Given the description of an element on the screen output the (x, y) to click on. 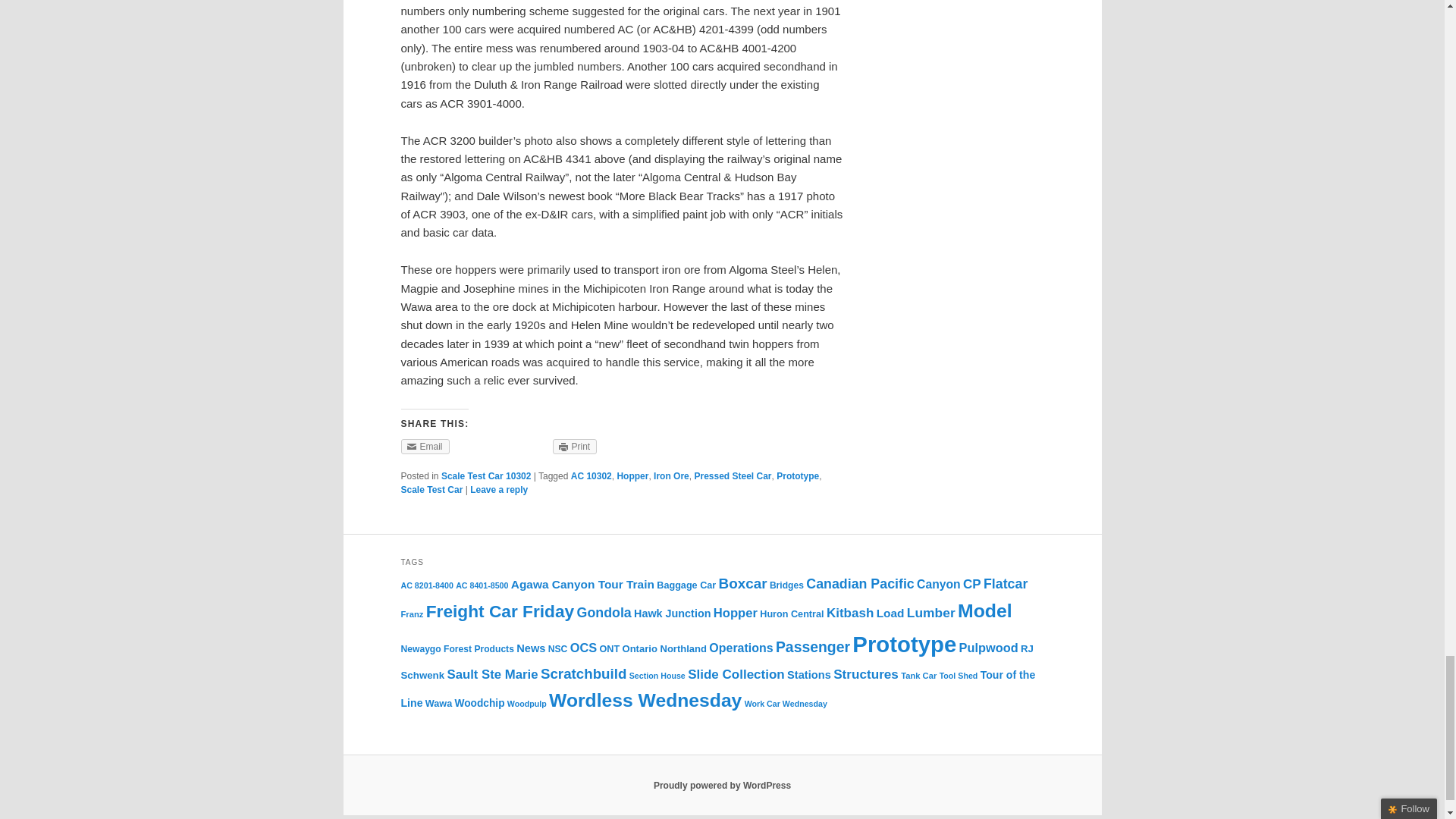
Click to print (574, 446)
Click to email this to a friend (424, 446)
Semantic Personal Publishing Platform (721, 785)
